Given the description of an element on the screen output the (x, y) to click on. 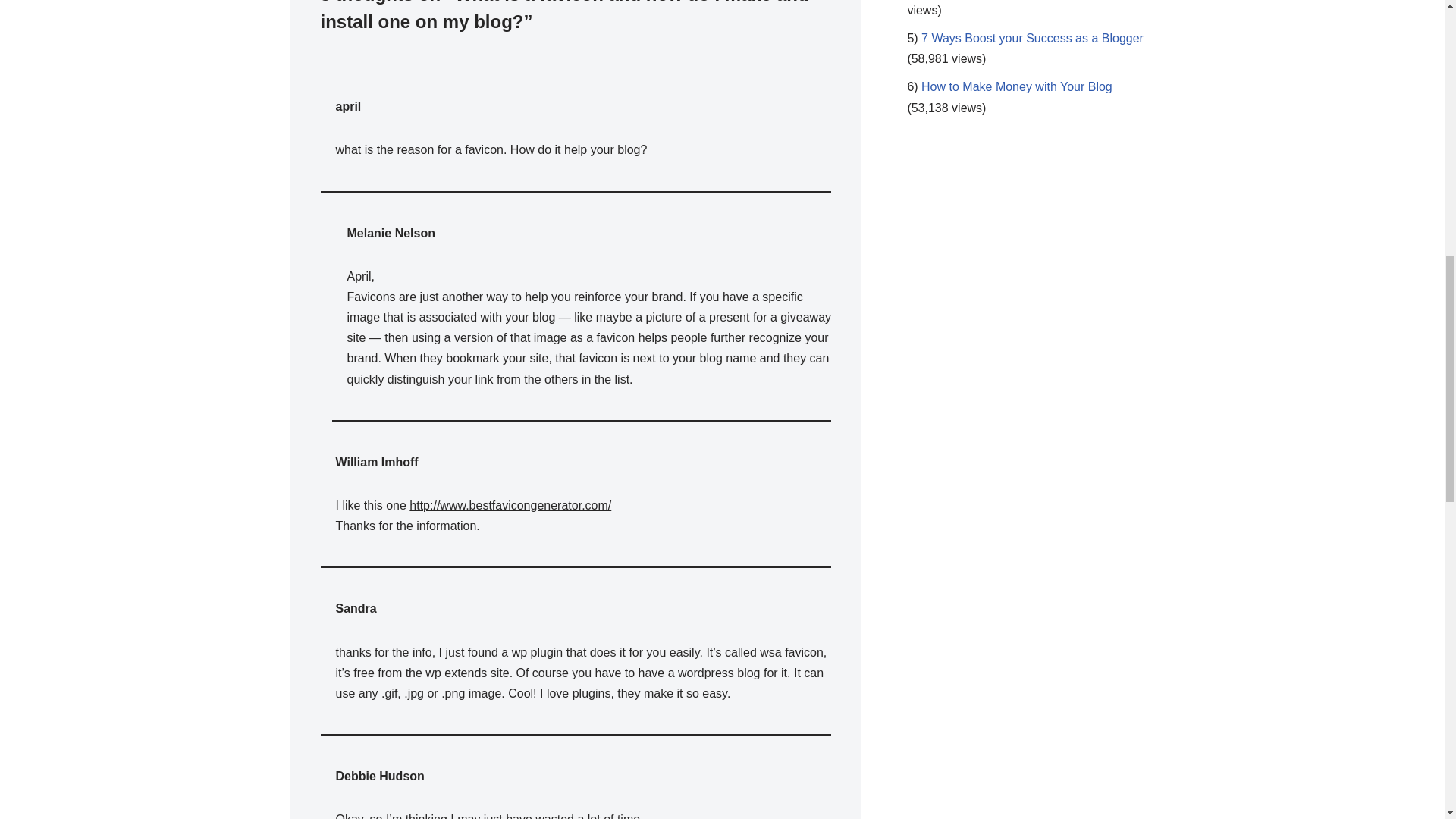
William Imhoff (375, 461)
Melanie Nelson (391, 232)
Debbie Hudson (378, 775)
Sandra (354, 608)
